Given the description of an element on the screen output the (x, y) to click on. 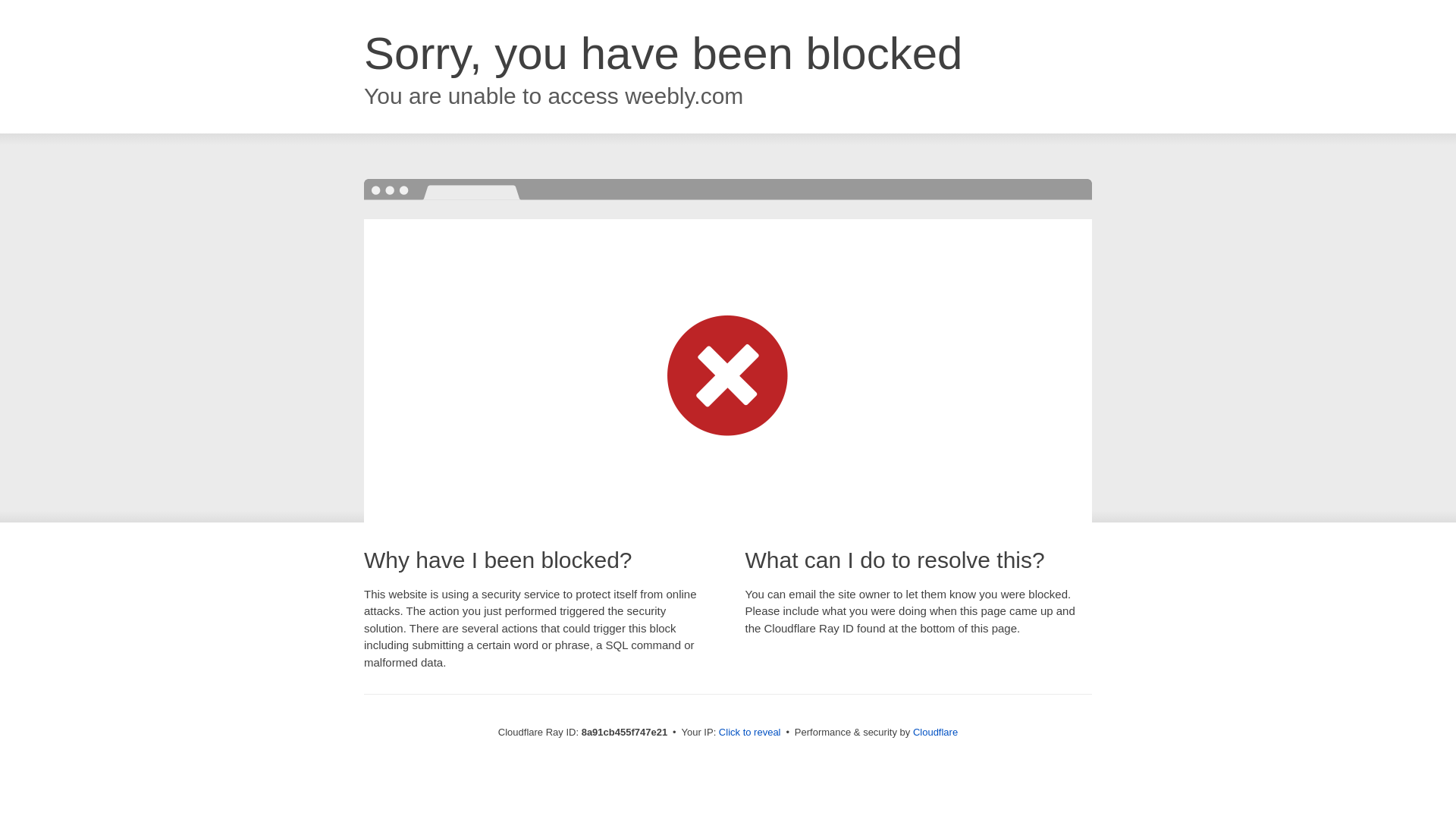
Cloudflare (935, 731)
Click to reveal (749, 732)
